Given the description of an element on the screen output the (x, y) to click on. 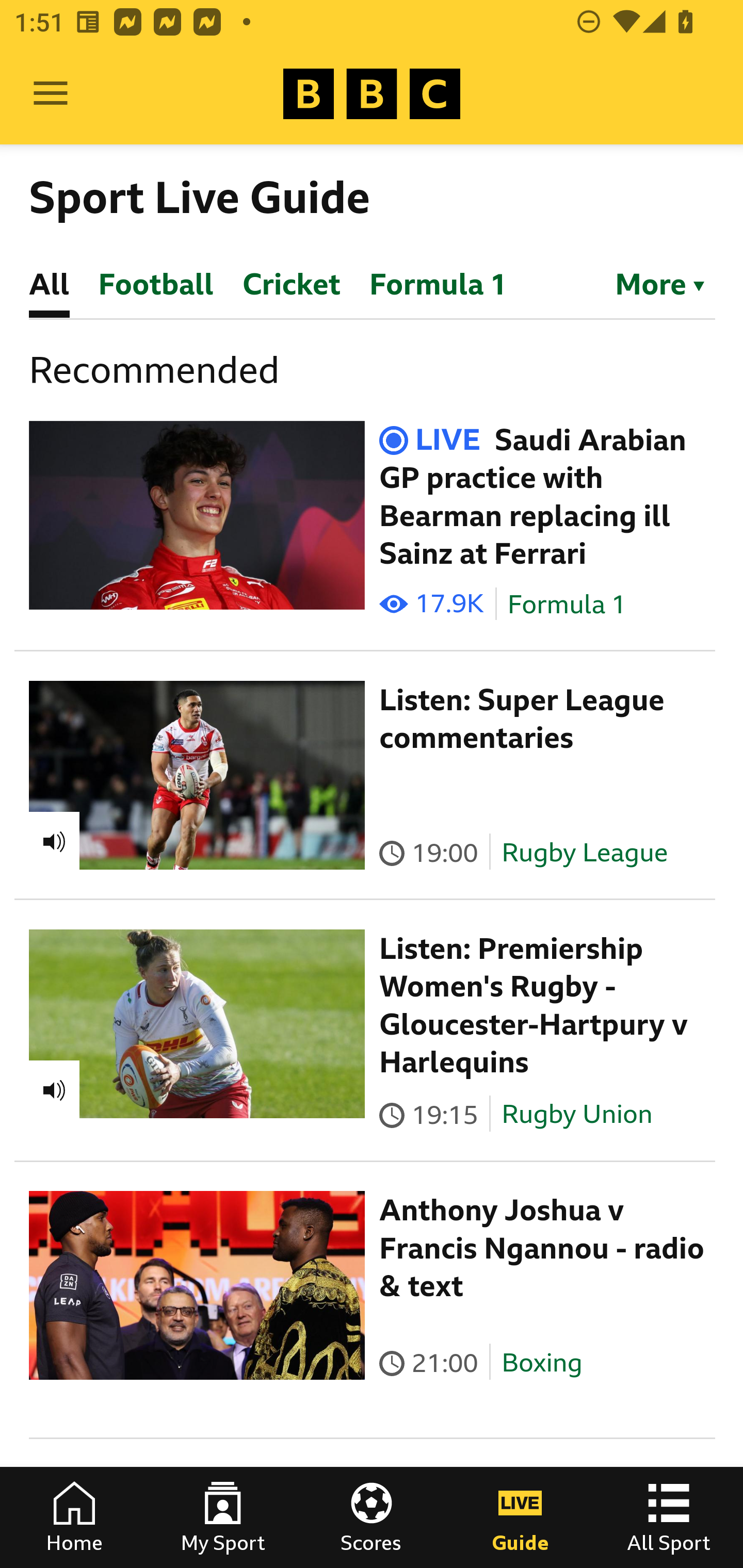
Open Menu (50, 93)
Formula 1 (566, 604)
Listen: Super League commentaries (522, 718)
Rugby League (584, 851)
Rugby Union (576, 1113)
Anthony Joshua v Francis Ngannou - radio & text (541, 1248)
Boxing (541, 1362)
Home (74, 1517)
My Sport (222, 1517)
Scores (371, 1517)
All Sport (668, 1517)
